Given the description of an element on the screen output the (x, y) to click on. 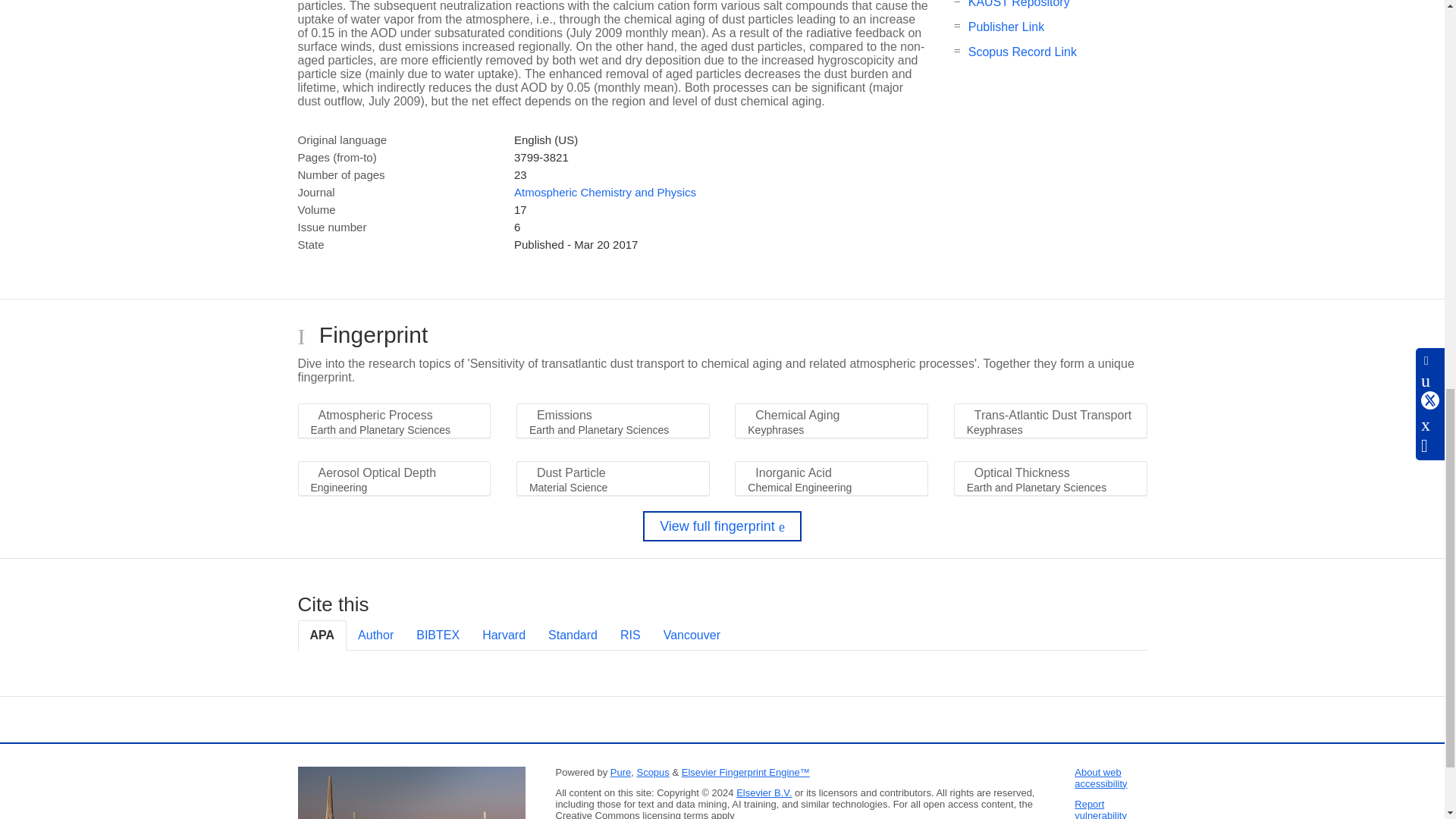
Atmospheric Chemistry and Physics (604, 192)
Publisher Link (1006, 26)
Scopus Record Link (1022, 51)
KAUST Repository (1019, 4)
View full fingerprint (722, 526)
